Given the description of an element on the screen output the (x, y) to click on. 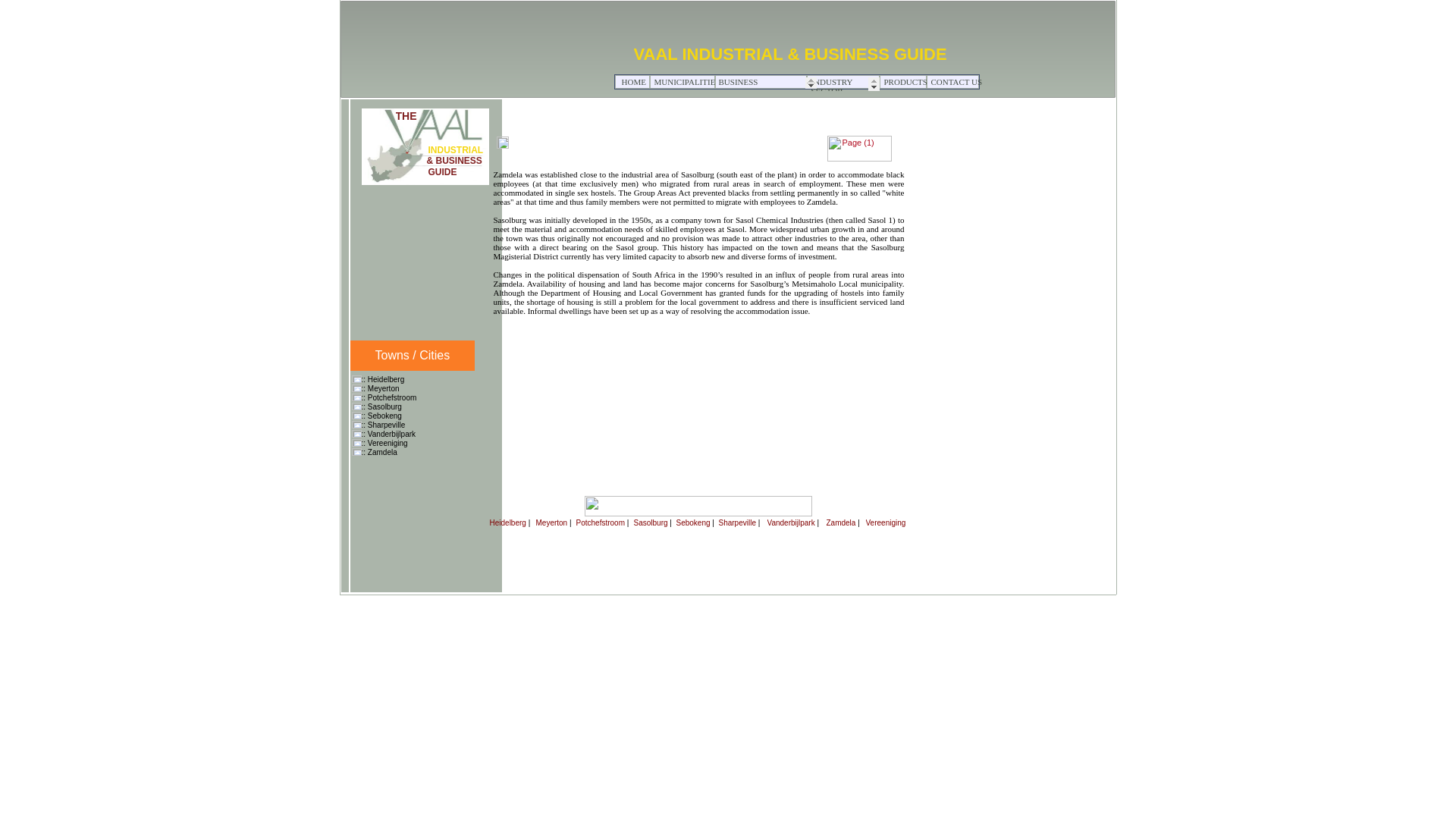
:: Sebokeng (381, 415)
Vereeniging (885, 522)
:: Vereeniging (384, 442)
:: Vanderbijlpark (387, 433)
Vaal Triangle Towns and Cities (552, 81)
:: Meyerton (379, 388)
:: Heidelberg (382, 379)
:: Sasolburg (381, 406)
Print this window (524, 142)
:: Sharpeville (382, 424)
